Given the description of an element on the screen output the (x, y) to click on. 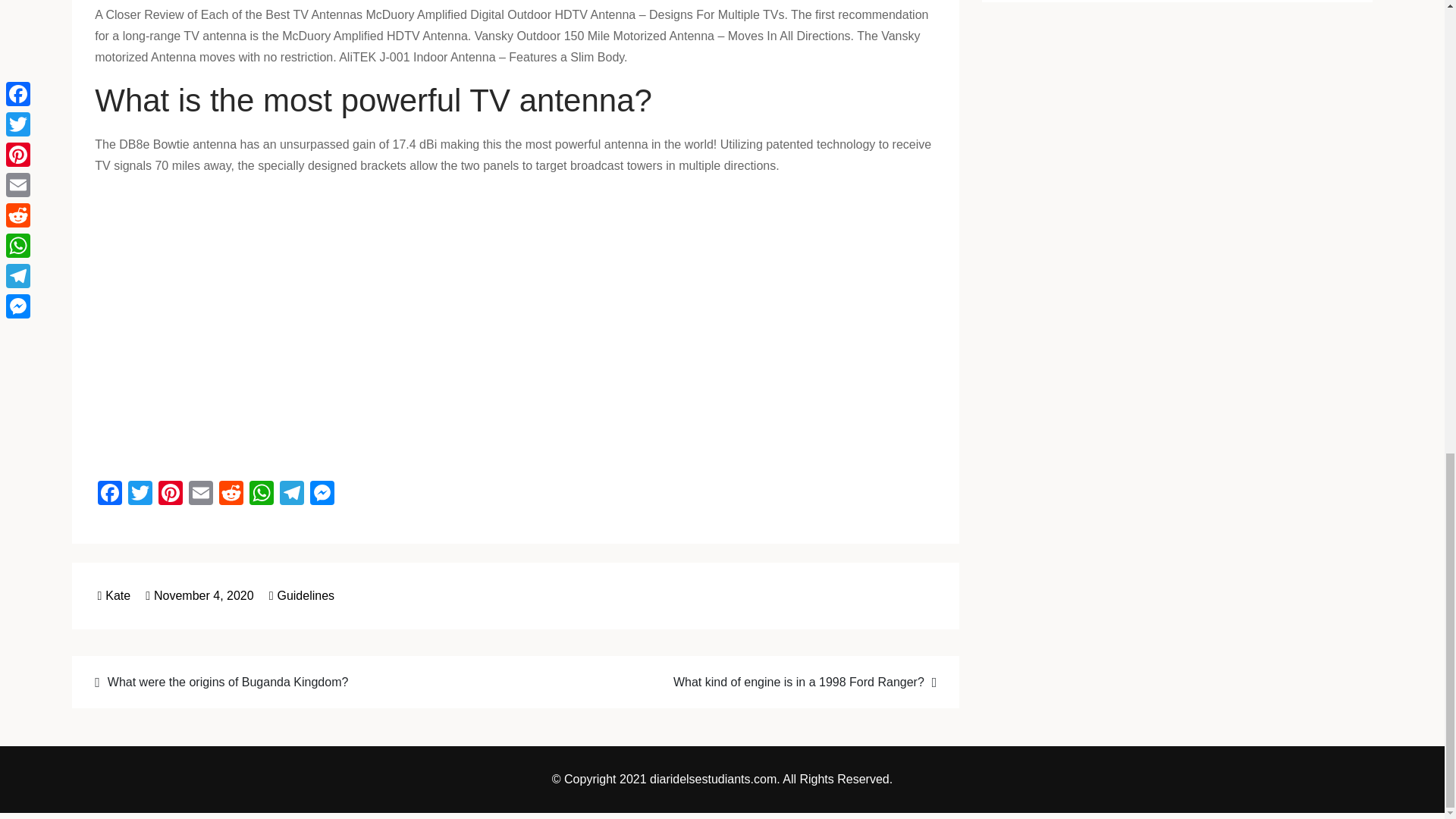
Telegram (291, 494)
WhatsApp (261, 494)
Facebook (109, 494)
Pinterest (170, 494)
WhatsApp (261, 494)
What were the origins of Buganda Kingdom? (295, 681)
Messenger (322, 494)
Email (200, 494)
What kind of engine is in a 1998 Ford Ranger? (735, 681)
Messenger (322, 494)
November 4, 2020 (199, 594)
Reddit (230, 494)
Telegram (291, 494)
Twitter (140, 494)
Pinterest (170, 494)
